Given the description of an element on the screen output the (x, y) to click on. 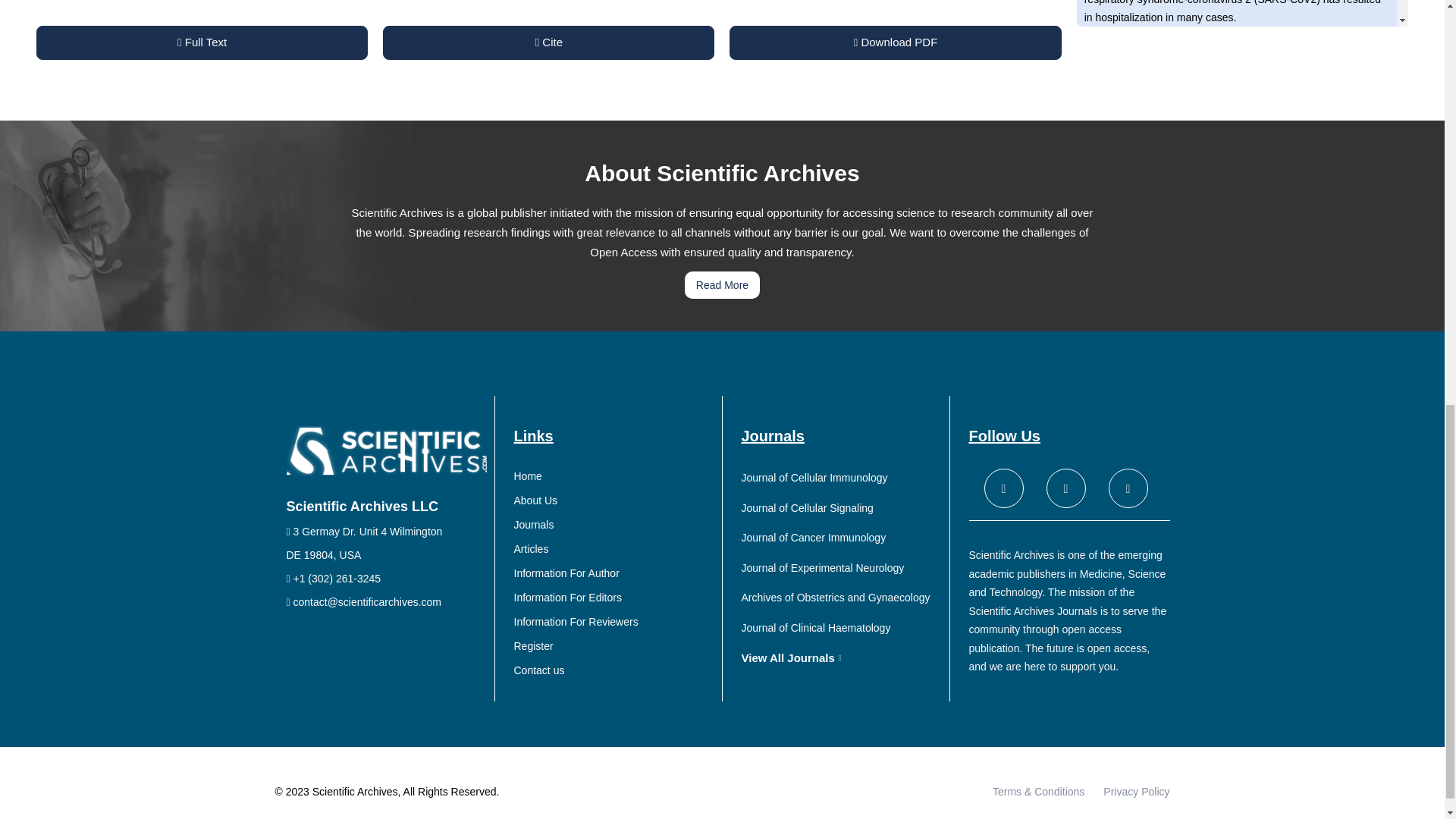
Home (613, 476)
Reviewers Guidelines (613, 621)
Editor Guidelines (613, 597)
Contact us (613, 670)
Journals (613, 524)
Author Guidelines (613, 573)
About Us (613, 500)
Articles (613, 549)
Register (613, 646)
